Given the description of an element on the screen output the (x, y) to click on. 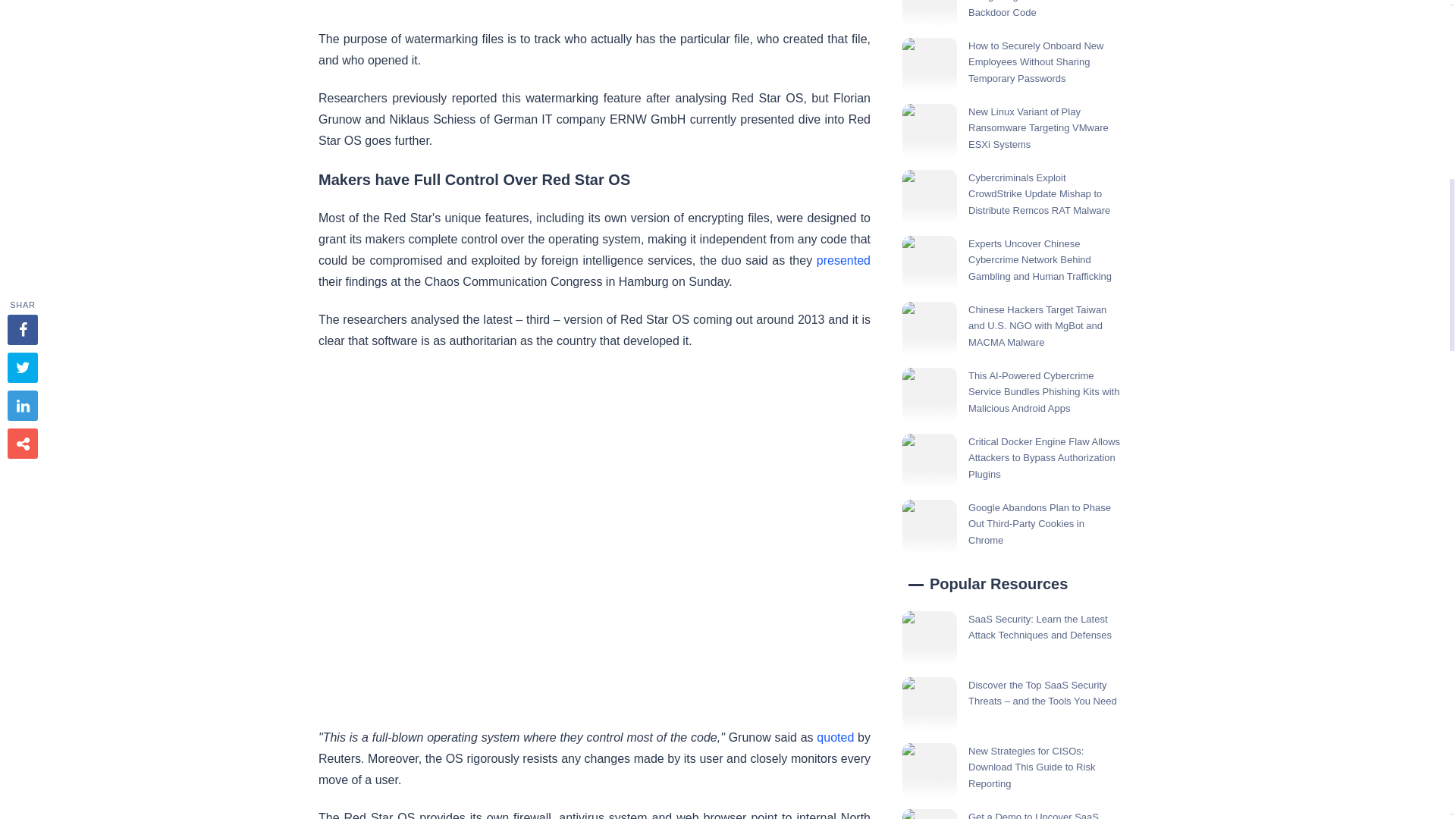
north-koria-Red-Star-computer (324, 4)
